Given the description of an element on the screen output the (x, y) to click on. 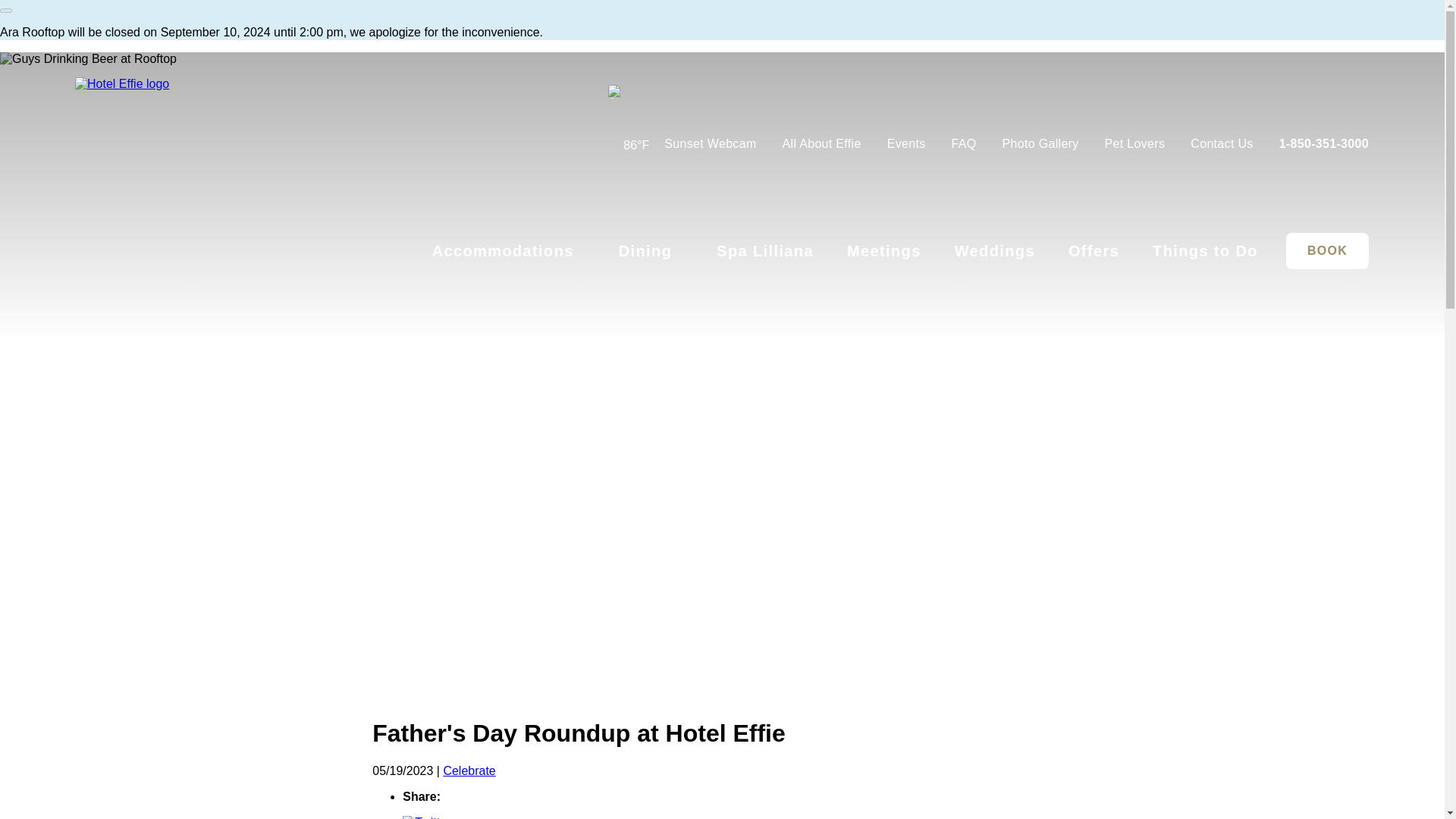
BOOK (1326, 250)
All About Effie (821, 143)
Celebrate (468, 770)
Accommodations (502, 250)
Weddings (995, 250)
Sunset Webcam (710, 143)
Photo Gallery (1040, 143)
Things to Do (1205, 250)
1-850-351-3000 (1318, 143)
Offers (1093, 250)
